Given the description of an element on the screen output the (x, y) to click on. 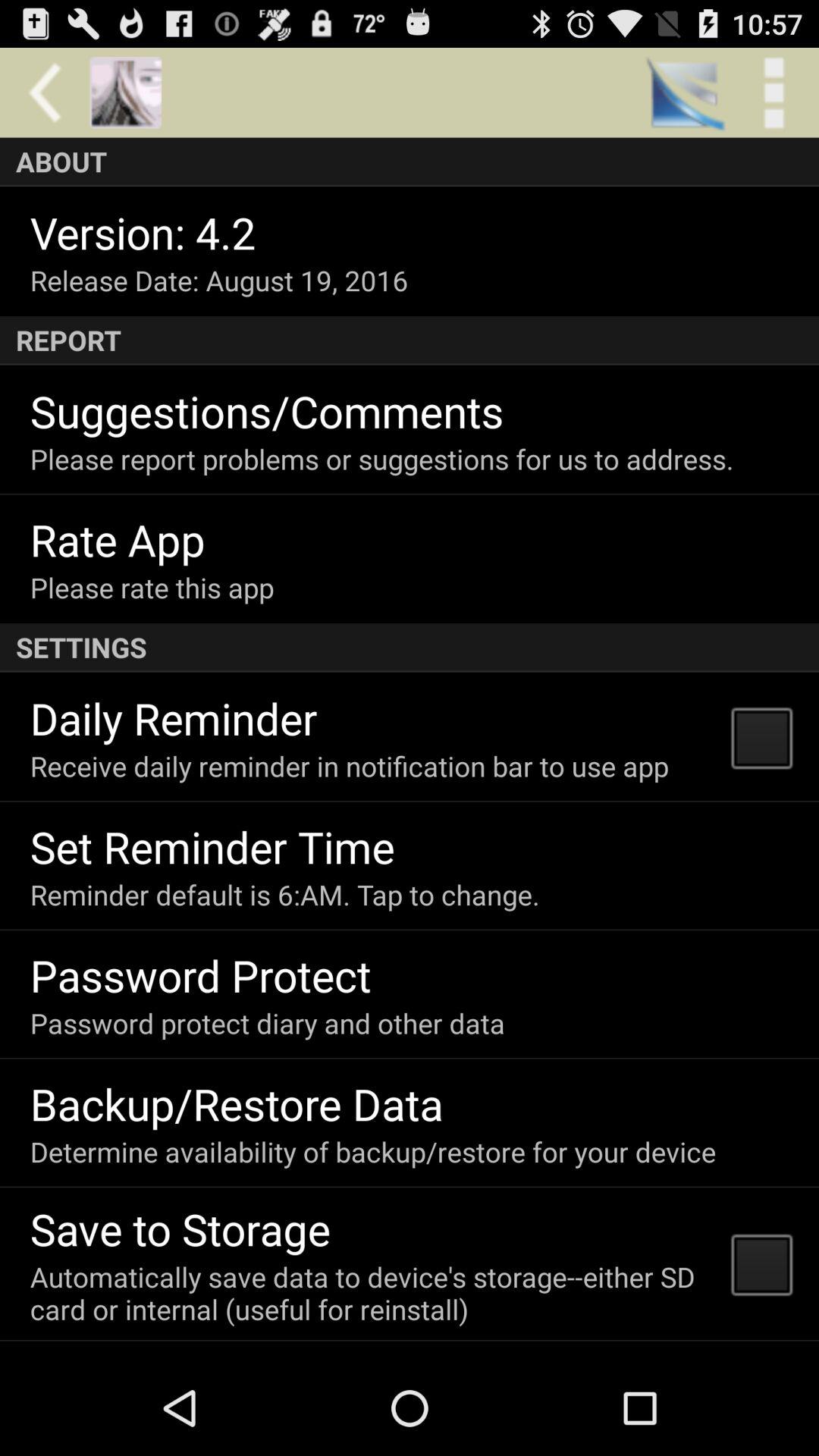
flip until the reminder default is icon (284, 894)
